Given the description of an element on the screen output the (x, y) to click on. 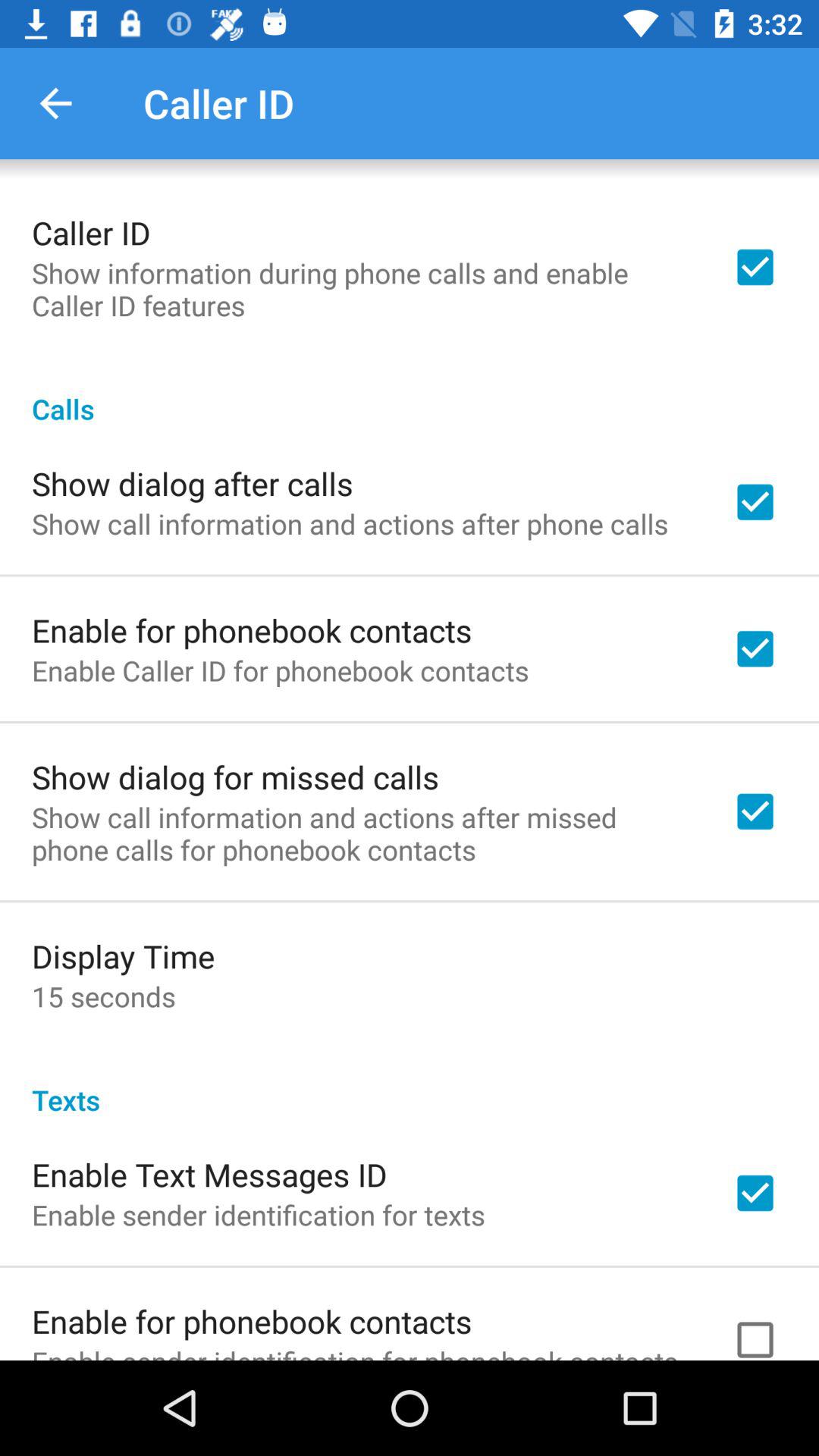
press the icon to the left of the caller id item (55, 103)
